Given the description of an element on the screen output the (x, y) to click on. 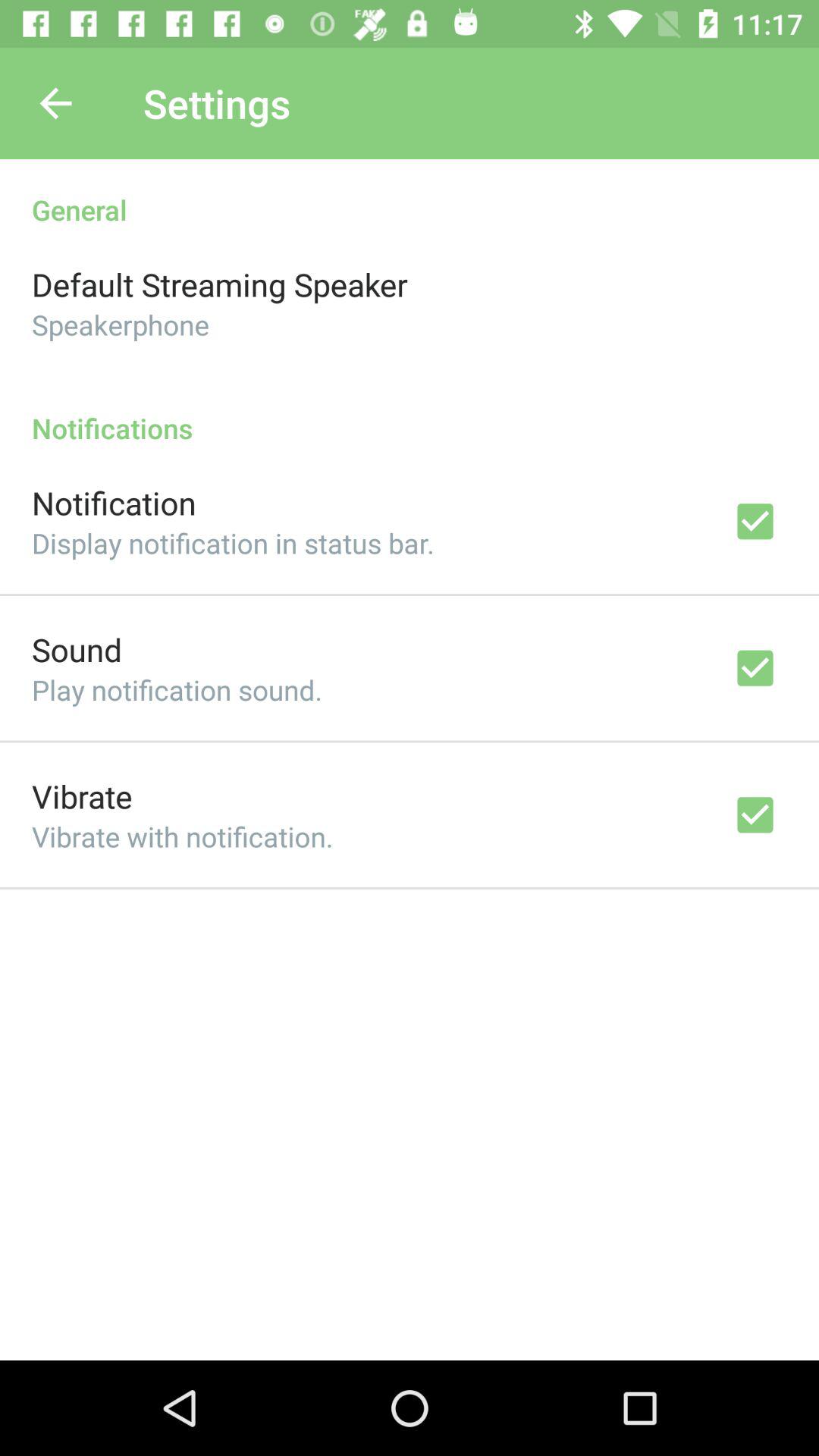
turn on the icon above the general icon (55, 103)
